Given the description of an element on the screen output the (x, y) to click on. 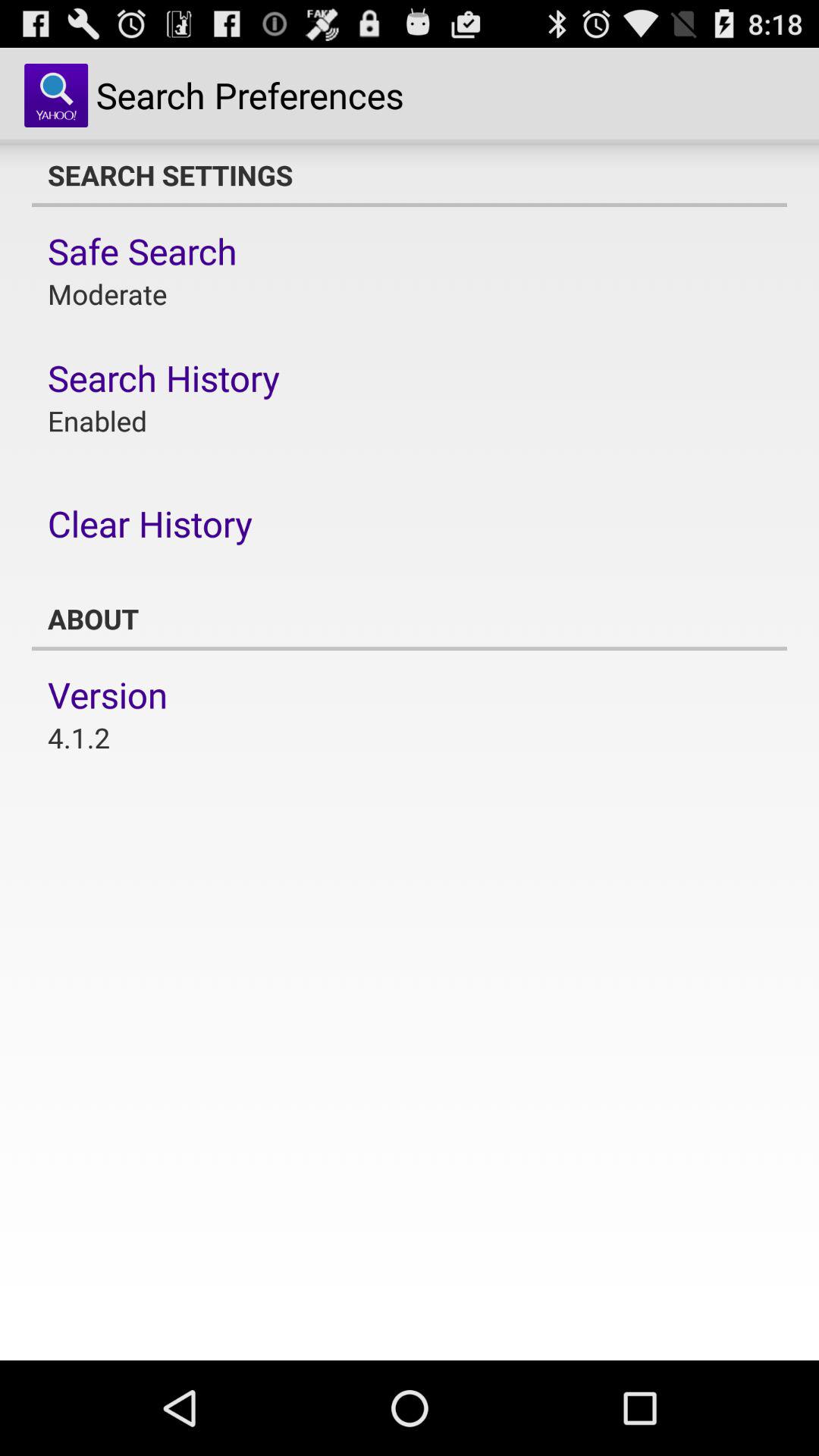
turn off version item (107, 694)
